Given the description of an element on the screen output the (x, y) to click on. 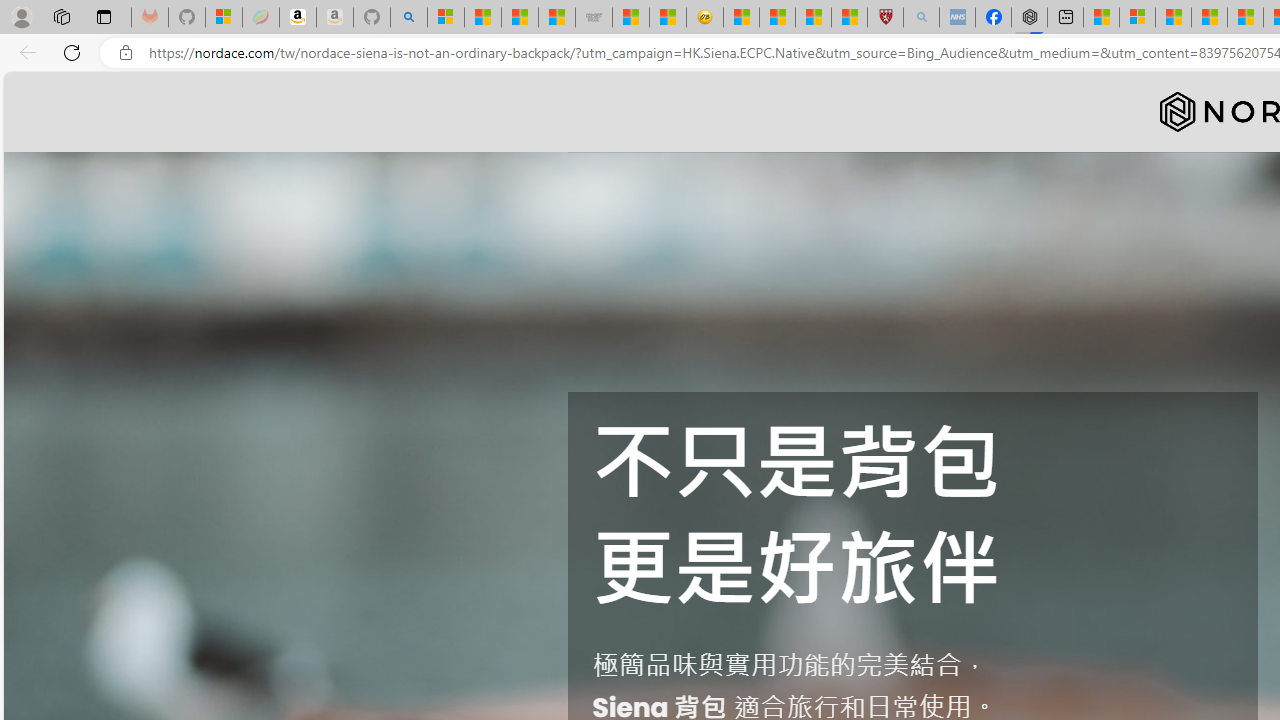
Fitness - MSN (1245, 17)
Recipes - MSN (741, 17)
